Given the description of an element on the screen output the (x, y) to click on. 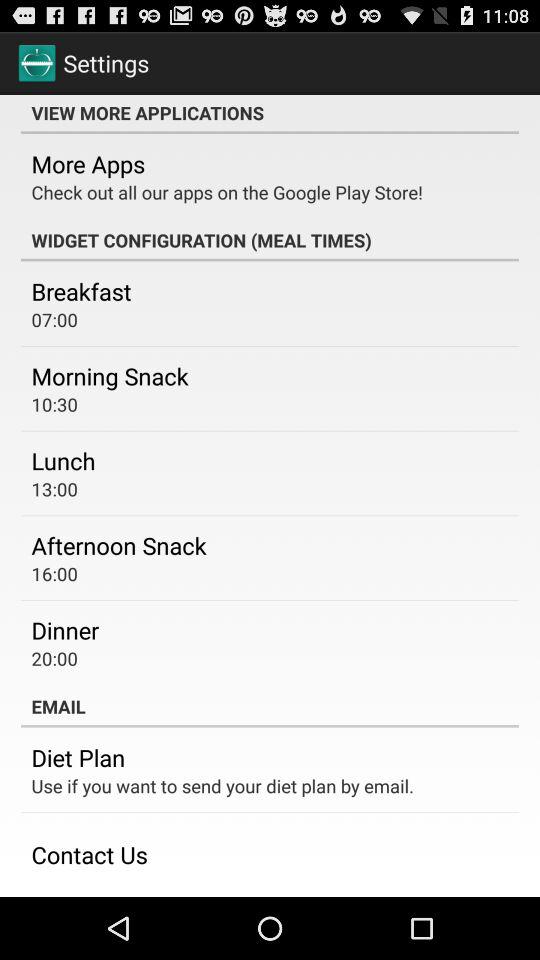
choose the icon above breakfast (270, 239)
